Given the description of an element on the screen output the (x, y) to click on. 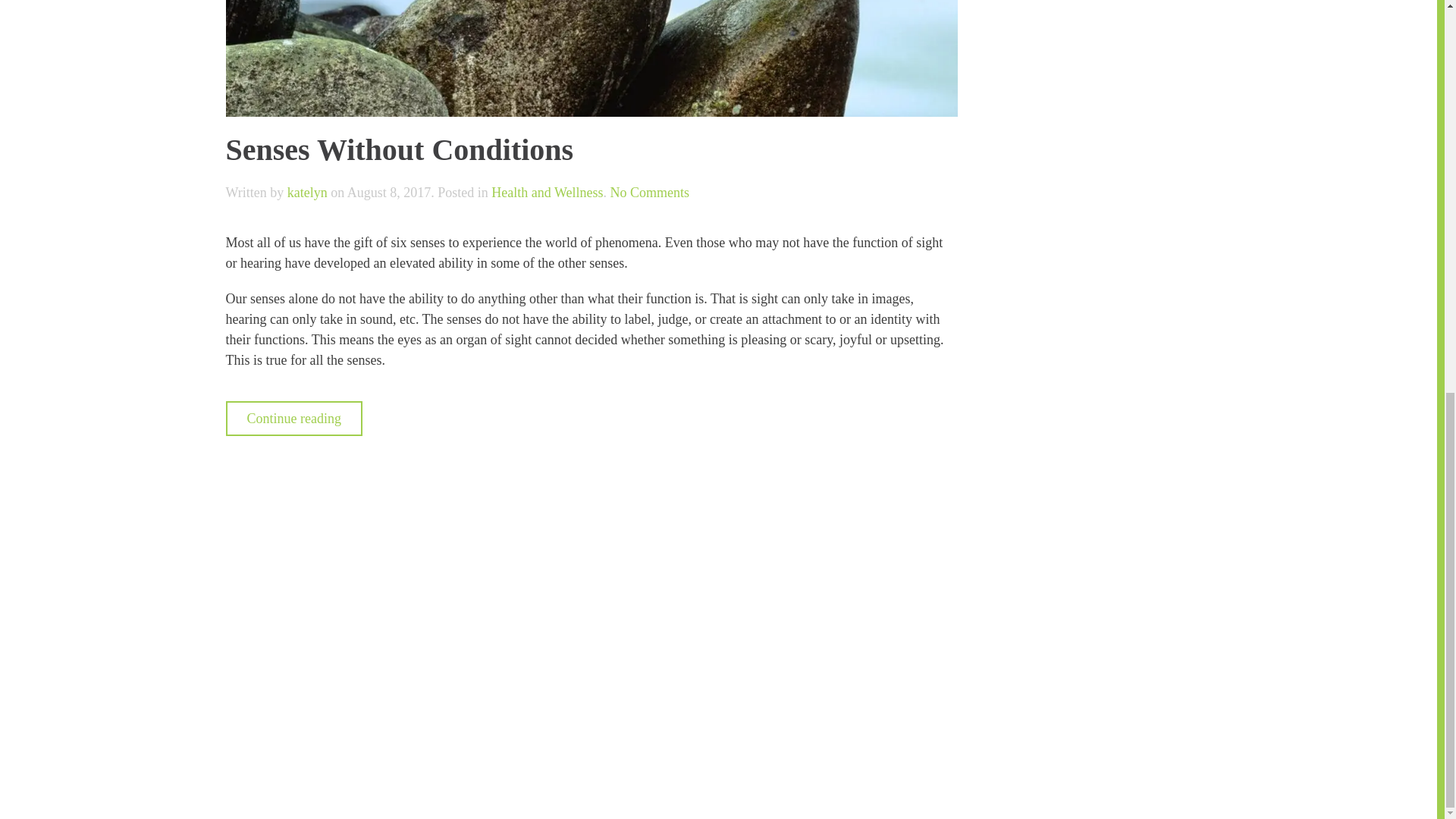
Continue reading (293, 418)
katelyn (306, 192)
Health and Wellness (649, 192)
Senses Without Conditions (547, 192)
